Given the description of an element on the screen output the (x, y) to click on. 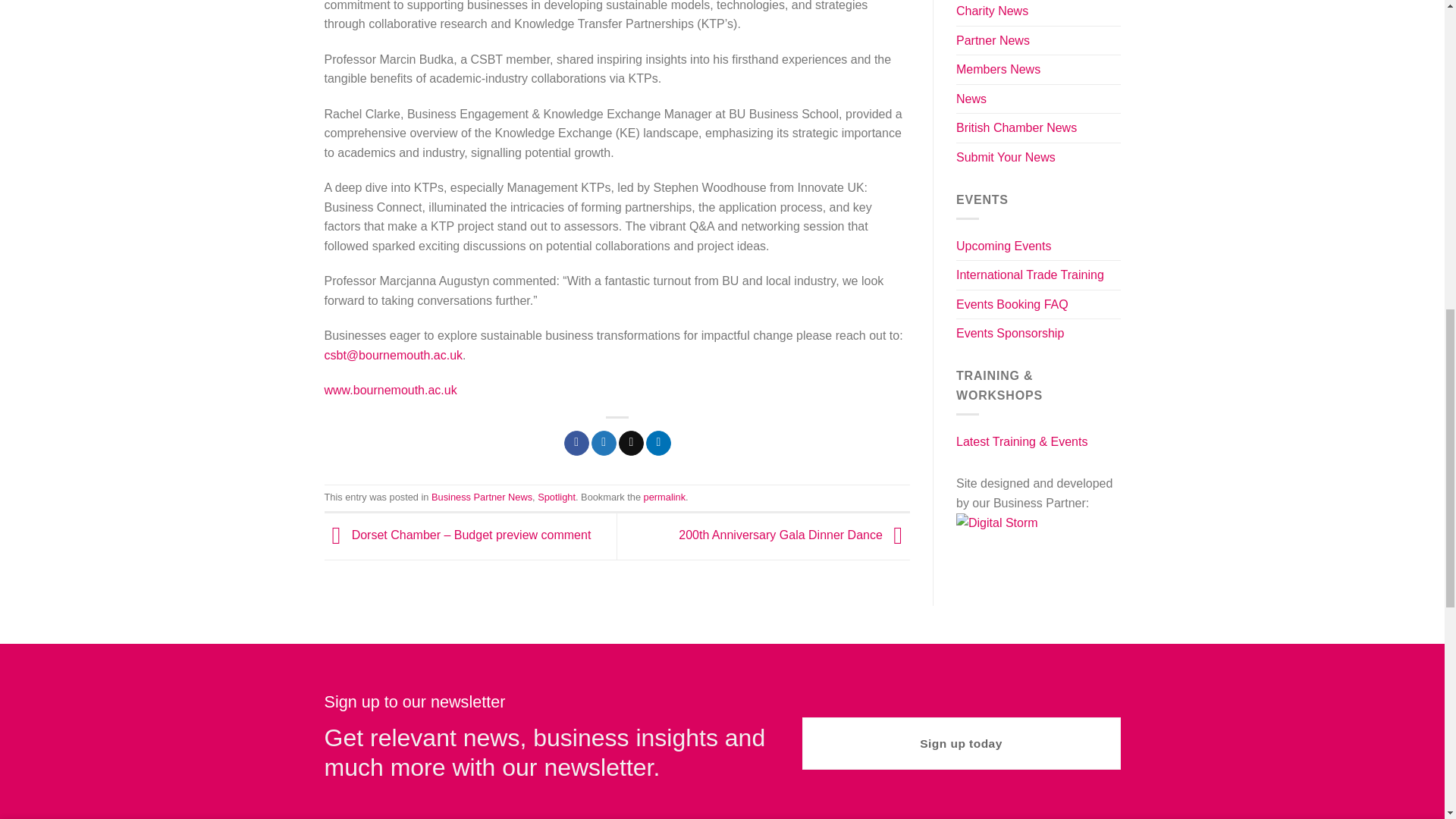
Share on Facebook (576, 443)
Share on LinkedIn (658, 443)
Email to a Friend (630, 443)
Share on Twitter (603, 443)
Permalink to Powering Innovation at Bournemouth University (664, 496)
